Given the description of an element on the screen output the (x, y) to click on. 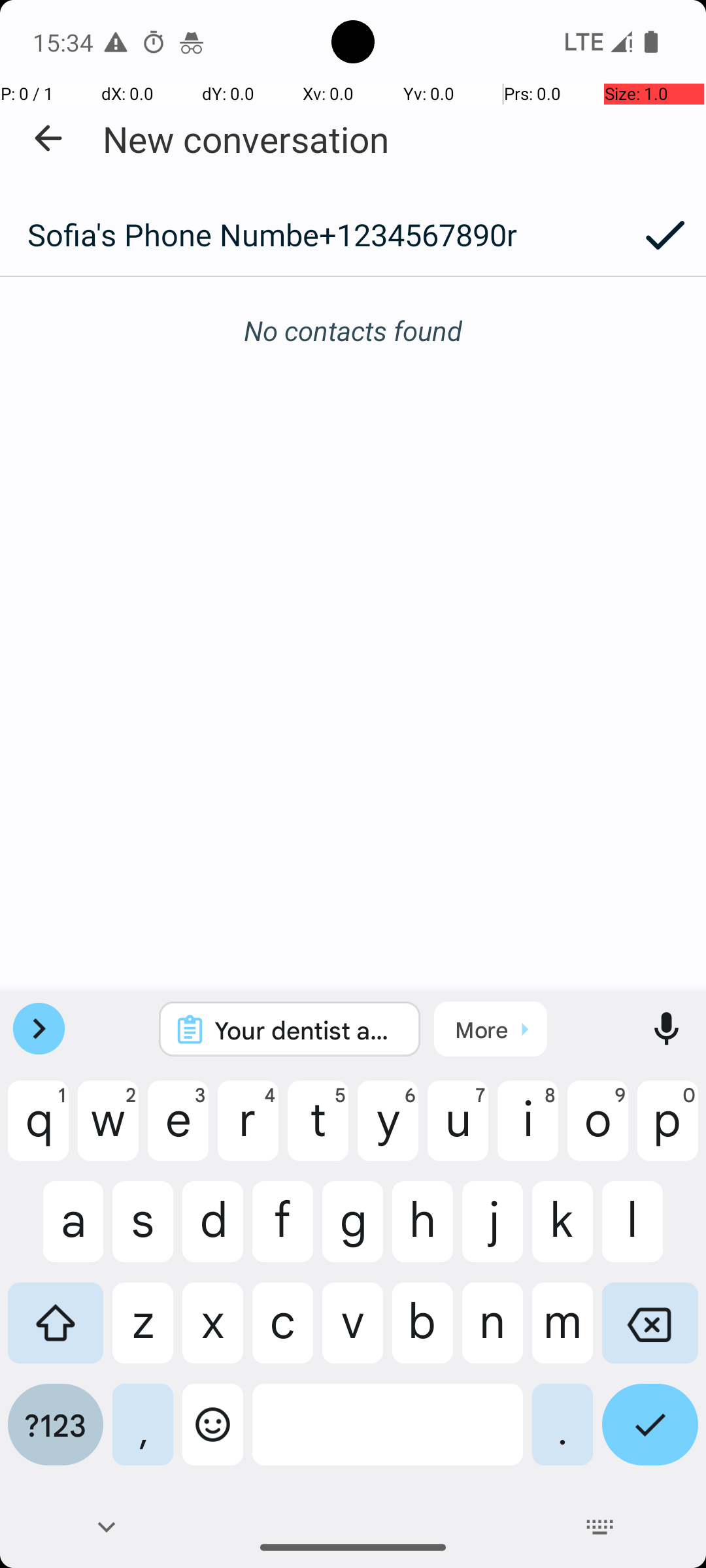
New conversation Element type: android.widget.TextView (245, 138)
Sofia's Phone Numbe+1234567890r Element type: android.widget.EditText (311, 234)
No contacts found Element type: android.widget.TextView (353, 329)
Your dentist appointment is scheduled for 2 PM on Thursday. Element type: android.widget.TextView (306, 1029)
